Given the description of an element on the screen output the (x, y) to click on. 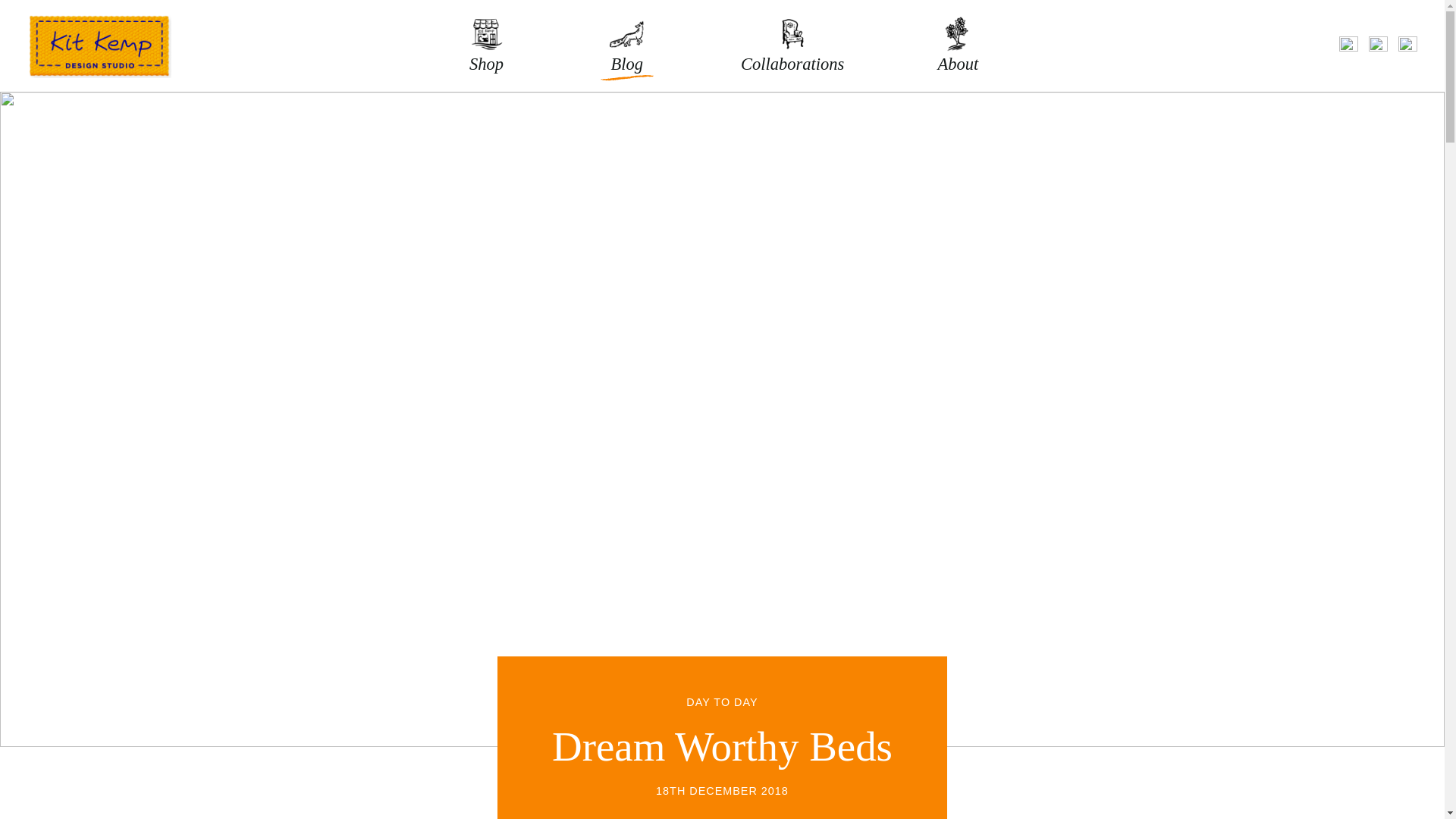
Kit Kemp Design Studio (99, 45)
Search (1348, 45)
Collaborations (792, 41)
Cart (1406, 45)
Account (1377, 45)
